Given the description of an element on the screen output the (x, y) to click on. 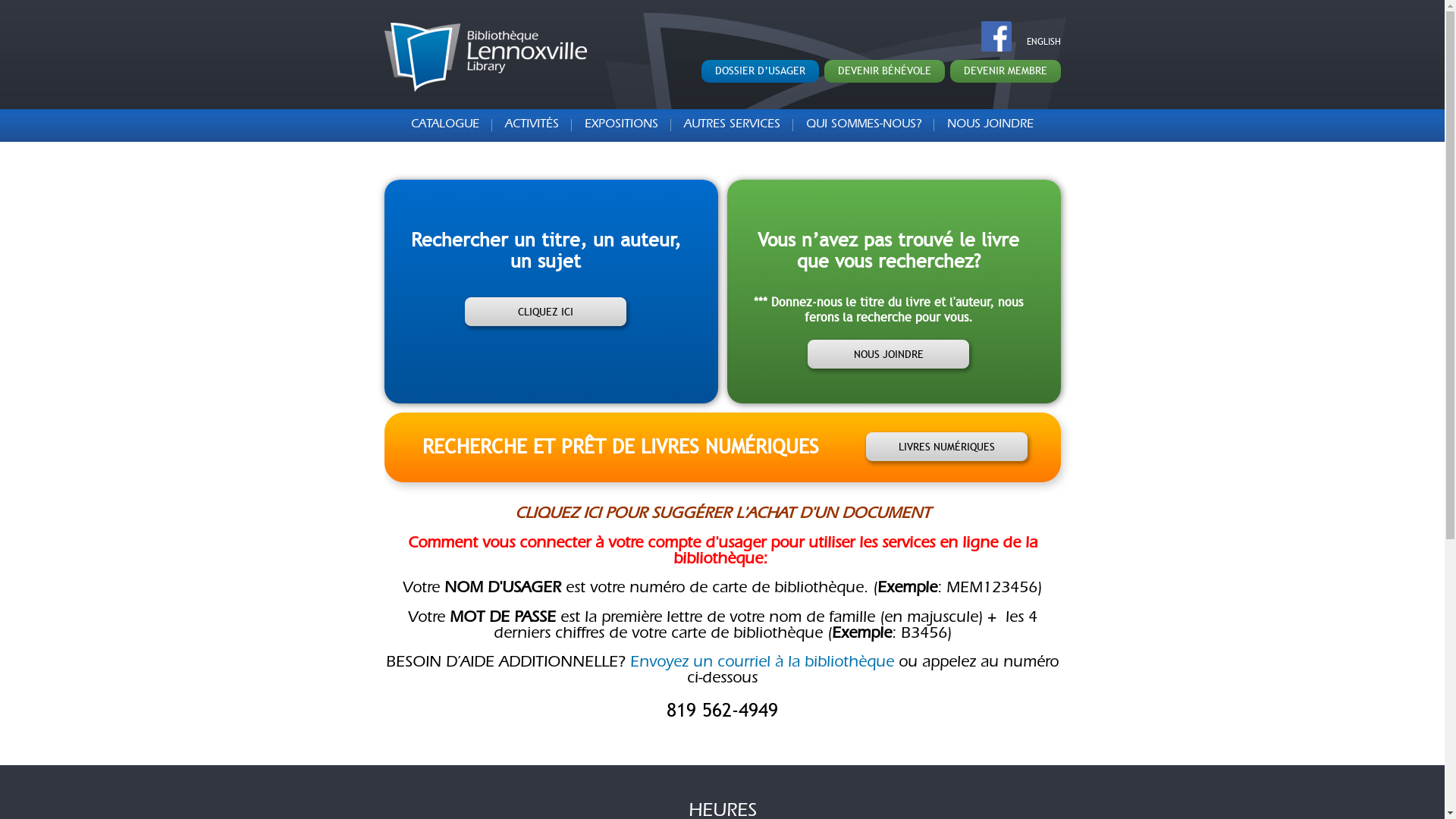
QUI SOMMES-NOUS? Element type: text (863, 125)
ENGLISH Element type: text (1043, 41)
NOUS JOINDRE Element type: text (983, 125)
AUTRES SERVICES Element type: text (732, 125)
EXPOSITIONS Element type: text (621, 125)
DEVENIR MEMBRE Element type: text (1004, 70)
NOUS JOINDRE Element type: text (888, 356)
CLIQUEZ ICI Element type: text (545, 313)
CATALOGUE Element type: text (451, 125)
